Given the description of an element on the screen output the (x, y) to click on. 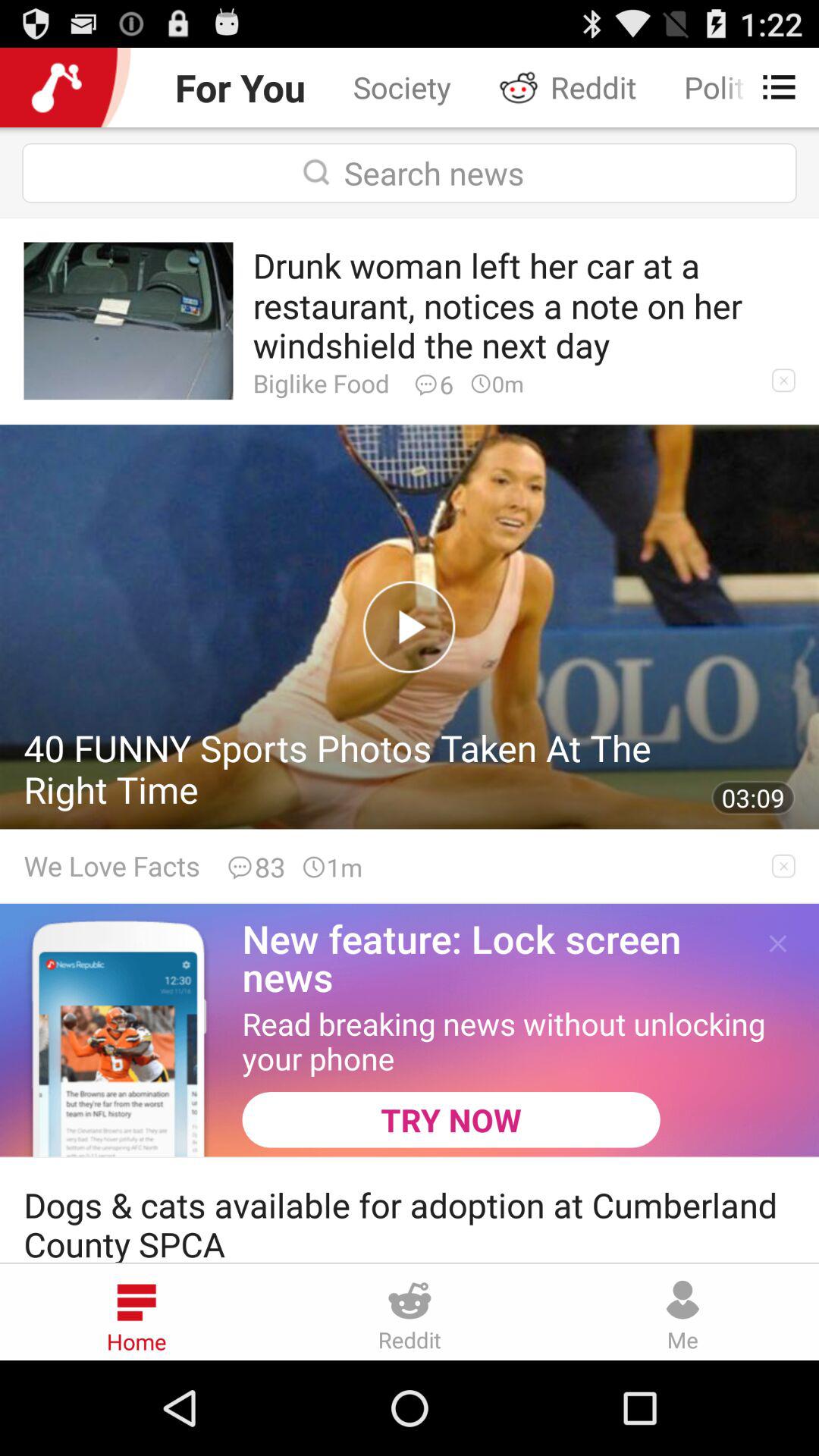
open the politics icon (709, 87)
